Given the description of an element on the screen output the (x, y) to click on. 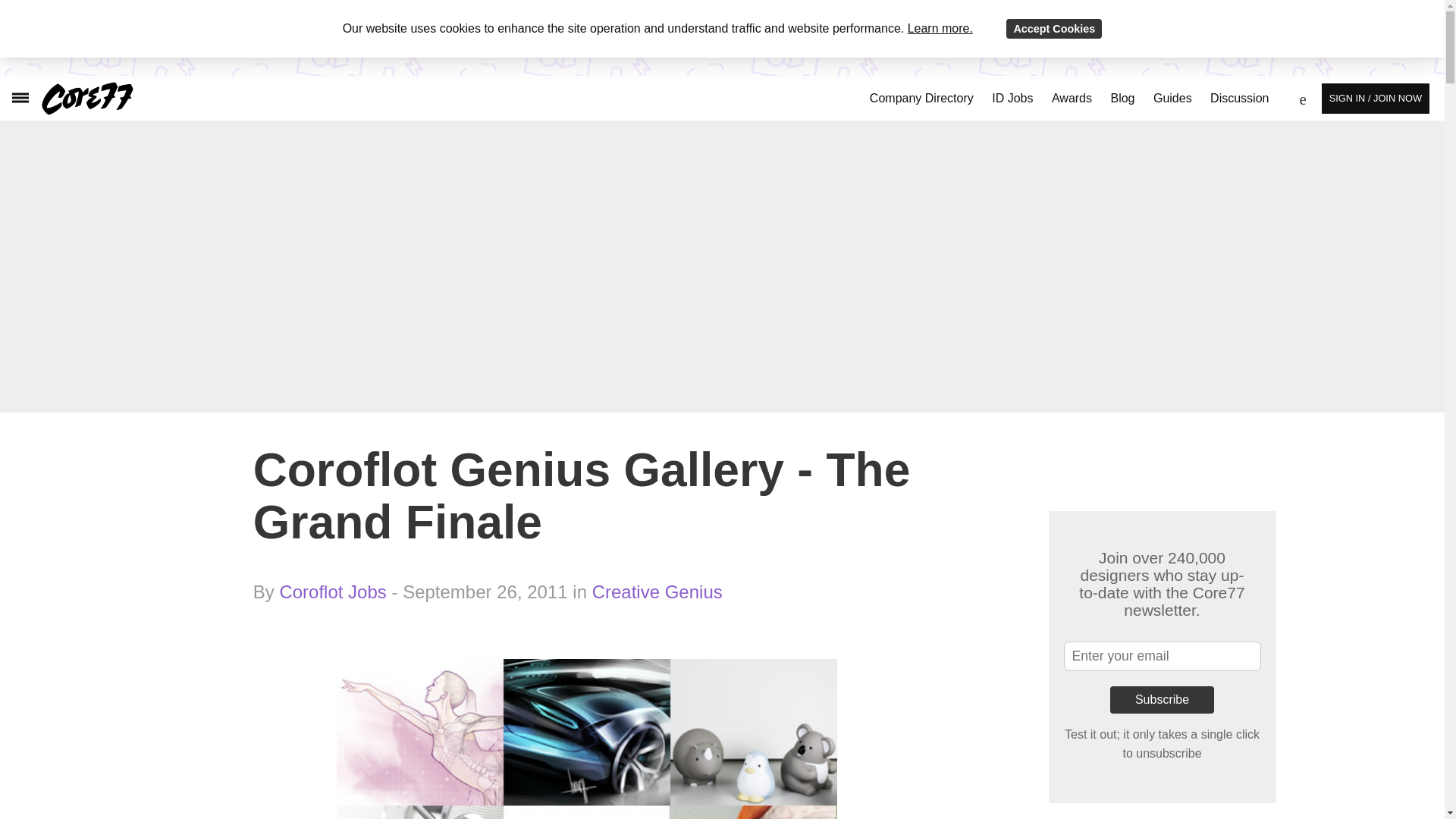
Blog (1121, 97)
Core77 (106, 98)
Creative Genius (657, 591)
Core77 (106, 98)
Coroflot Jobs (332, 591)
ID Jobs (1011, 97)
Company Directory (921, 97)
Awards (1071, 97)
Guides (1172, 97)
Discussion (1238, 97)
